Given the description of an element on the screen output the (x, y) to click on. 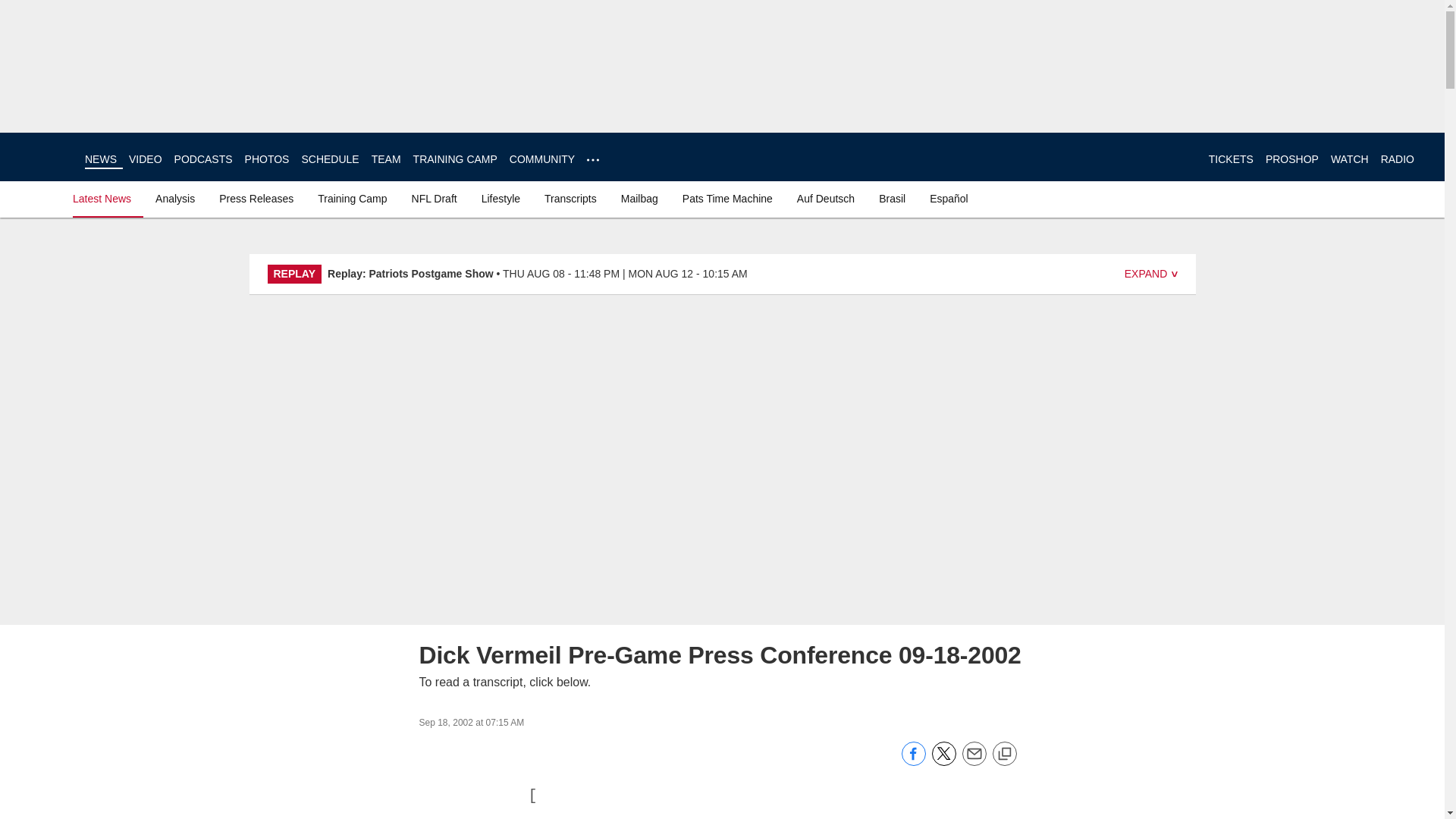
Analysis (174, 198)
PODCASTS (203, 159)
TRAINING CAMP (455, 159)
Replay: Patriots Postgame Show (410, 273)
WATCH (1349, 159)
RADIO (1396, 159)
VIDEO (145, 159)
TICKETS (1230, 159)
PROSHOP (1292, 159)
TICKETS (1230, 159)
